Given the description of an element on the screen output the (x, y) to click on. 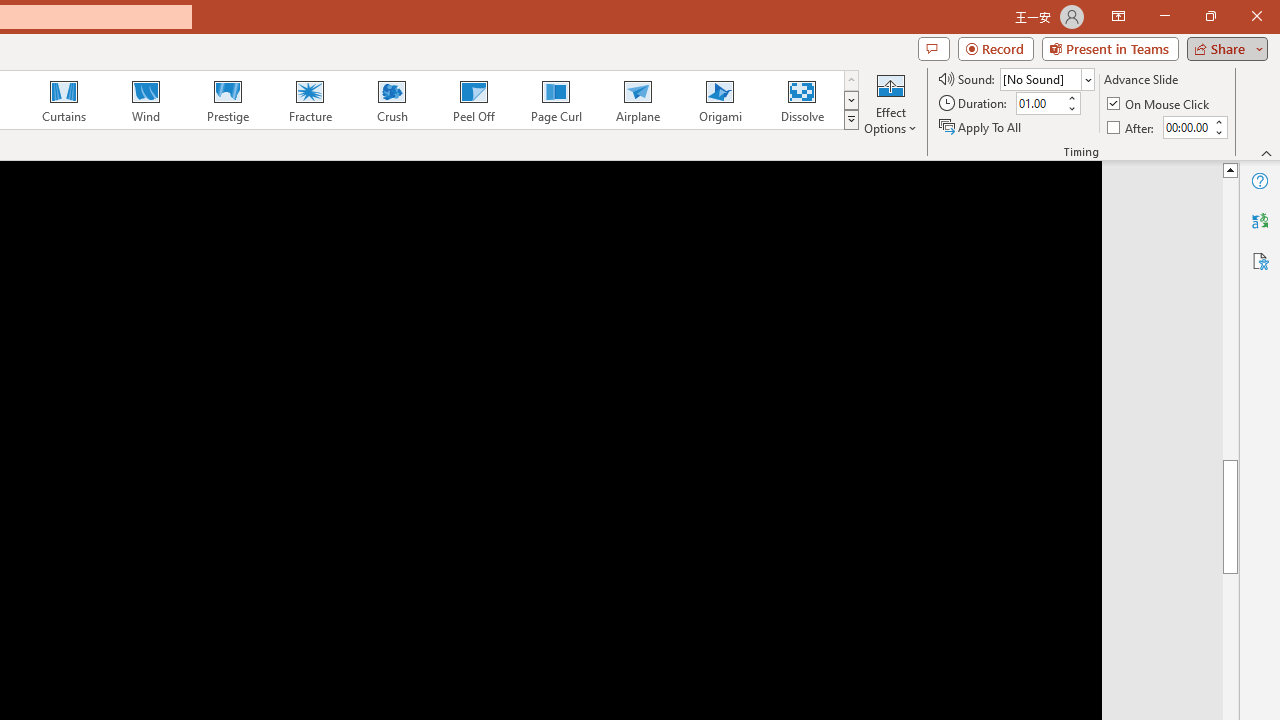
More (1218, 121)
On Mouse Click (1159, 103)
Duration (1039, 103)
Prestige (227, 100)
Page Curl (555, 100)
Less (1218, 132)
Sound (1046, 78)
Translator (1260, 220)
Apply To All (981, 126)
